Given the description of an element on the screen output the (x, y) to click on. 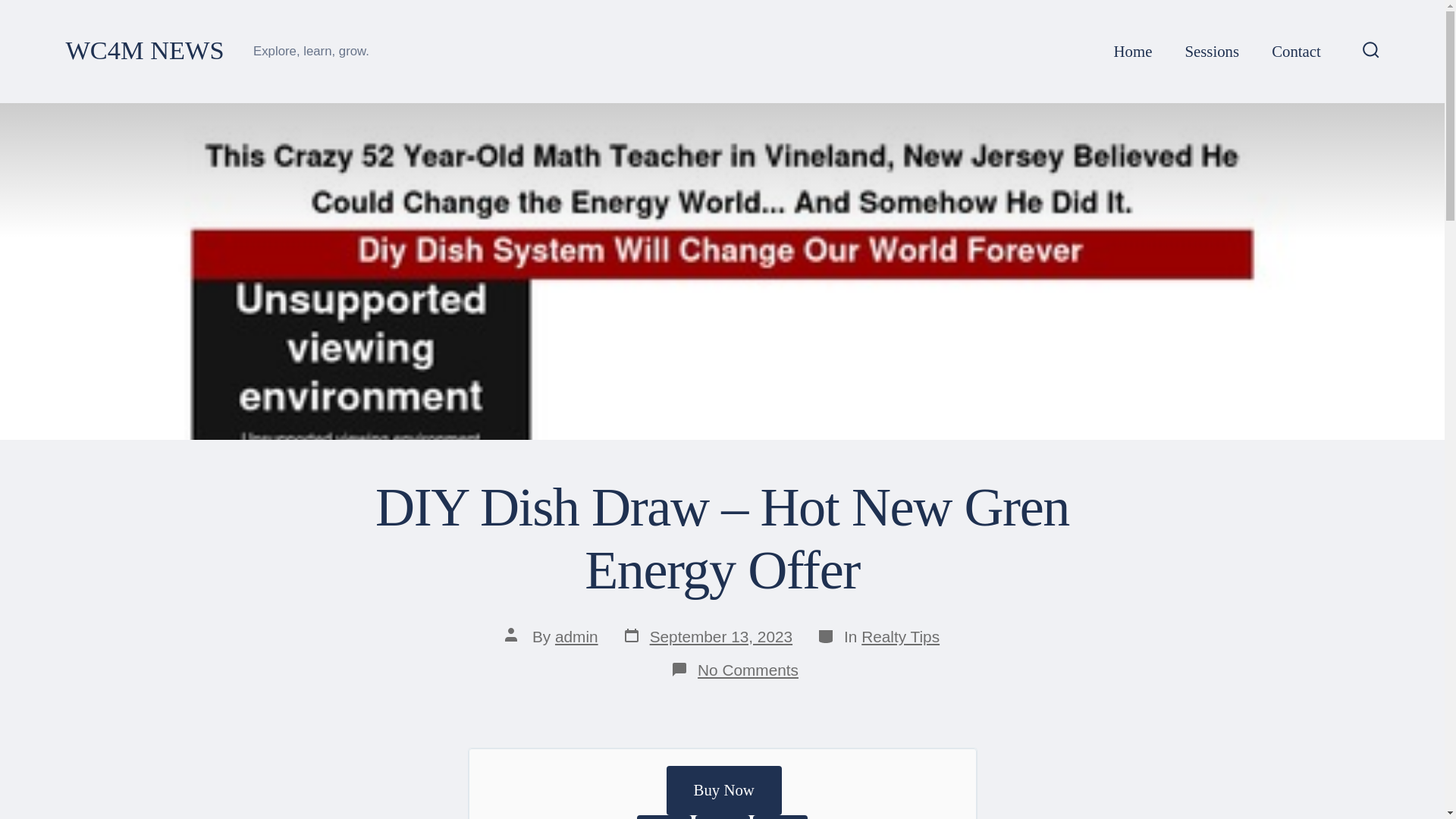
Search Toggle (1371, 50)
Realty Tips (900, 636)
admin (576, 636)
Contact (1295, 51)
Home (1133, 51)
WC4M NEWS (144, 51)
Sessions (1212, 51)
Buy Now (707, 636)
